Given the description of an element on the screen output the (x, y) to click on. 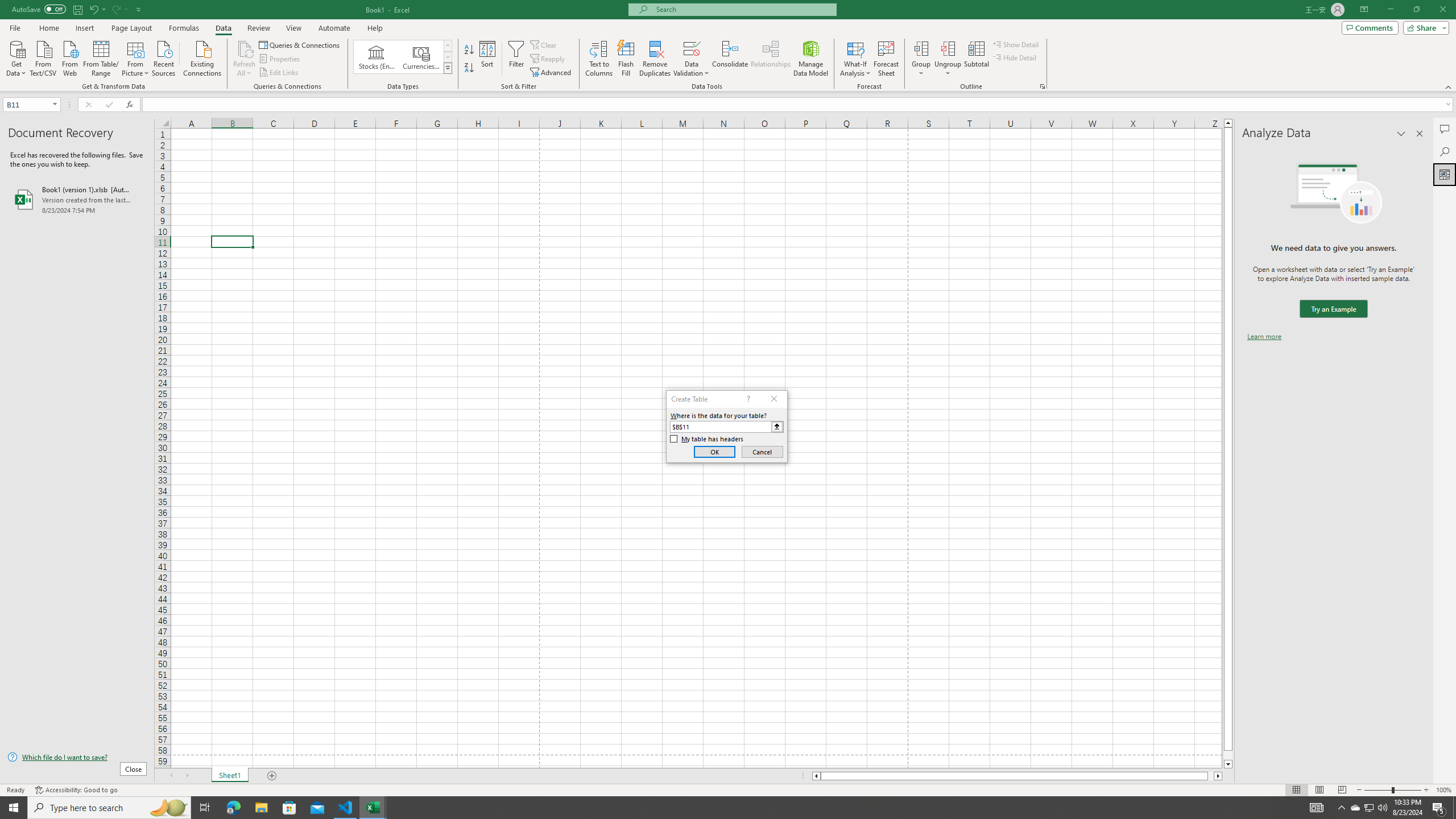
Close pane (1419, 133)
Analyze Data (1444, 173)
Hide Detail (1014, 56)
Sort Z to A (469, 67)
Subtotal (976, 58)
Which file do I want to save? (77, 757)
Clear (544, 44)
Manage Data Model (810, 58)
